Given the description of an element on the screen output the (x, y) to click on. 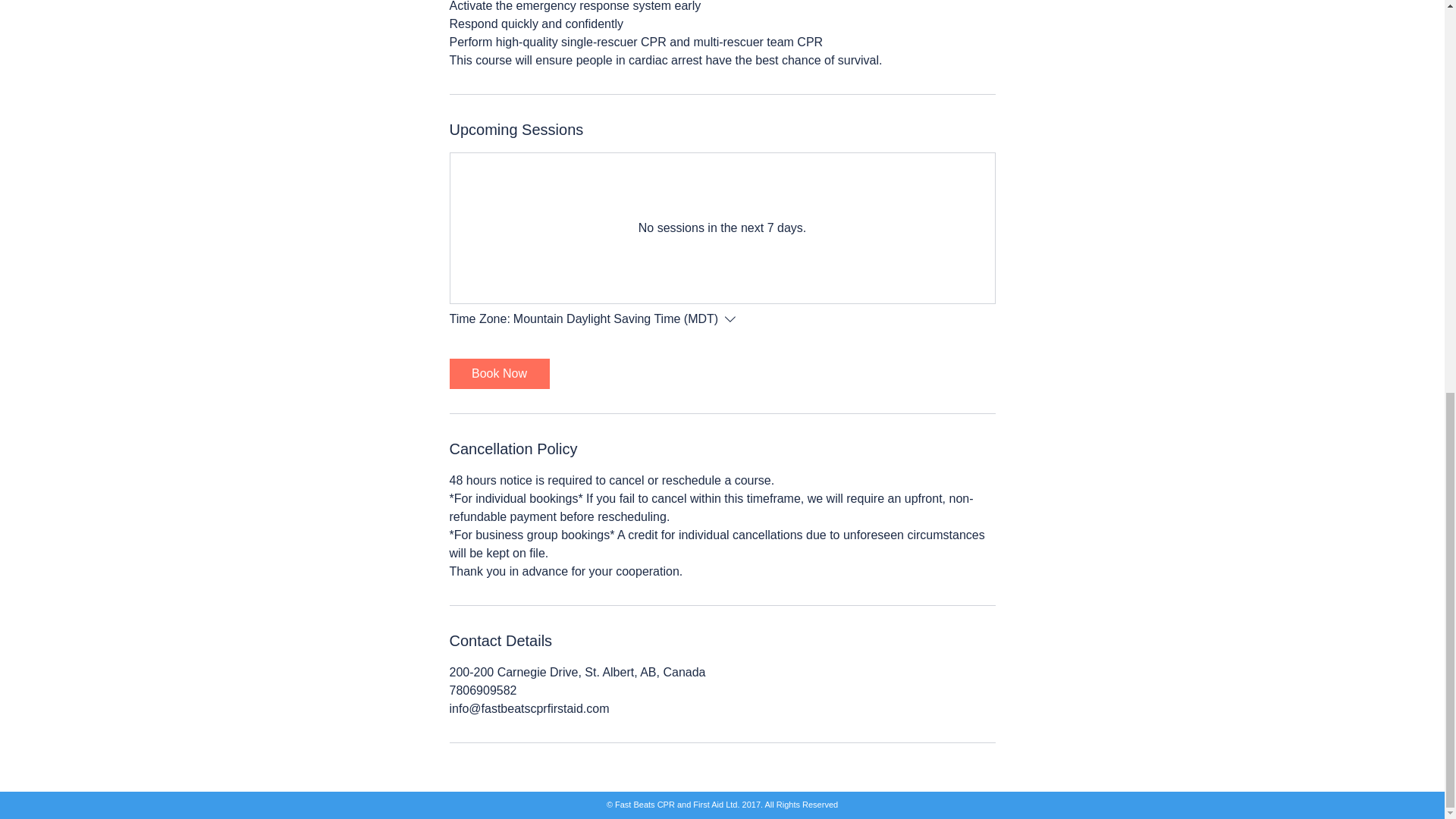
Book Now (498, 373)
